Given the description of an element on the screen output the (x, y) to click on. 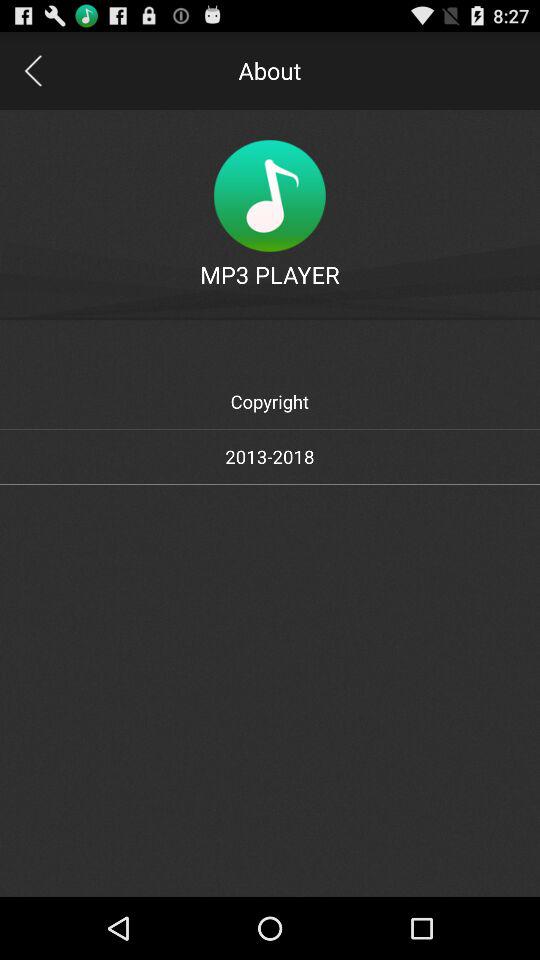
press icon to the left of about icon (32, 70)
